Given the description of an element on the screen output the (x, y) to click on. 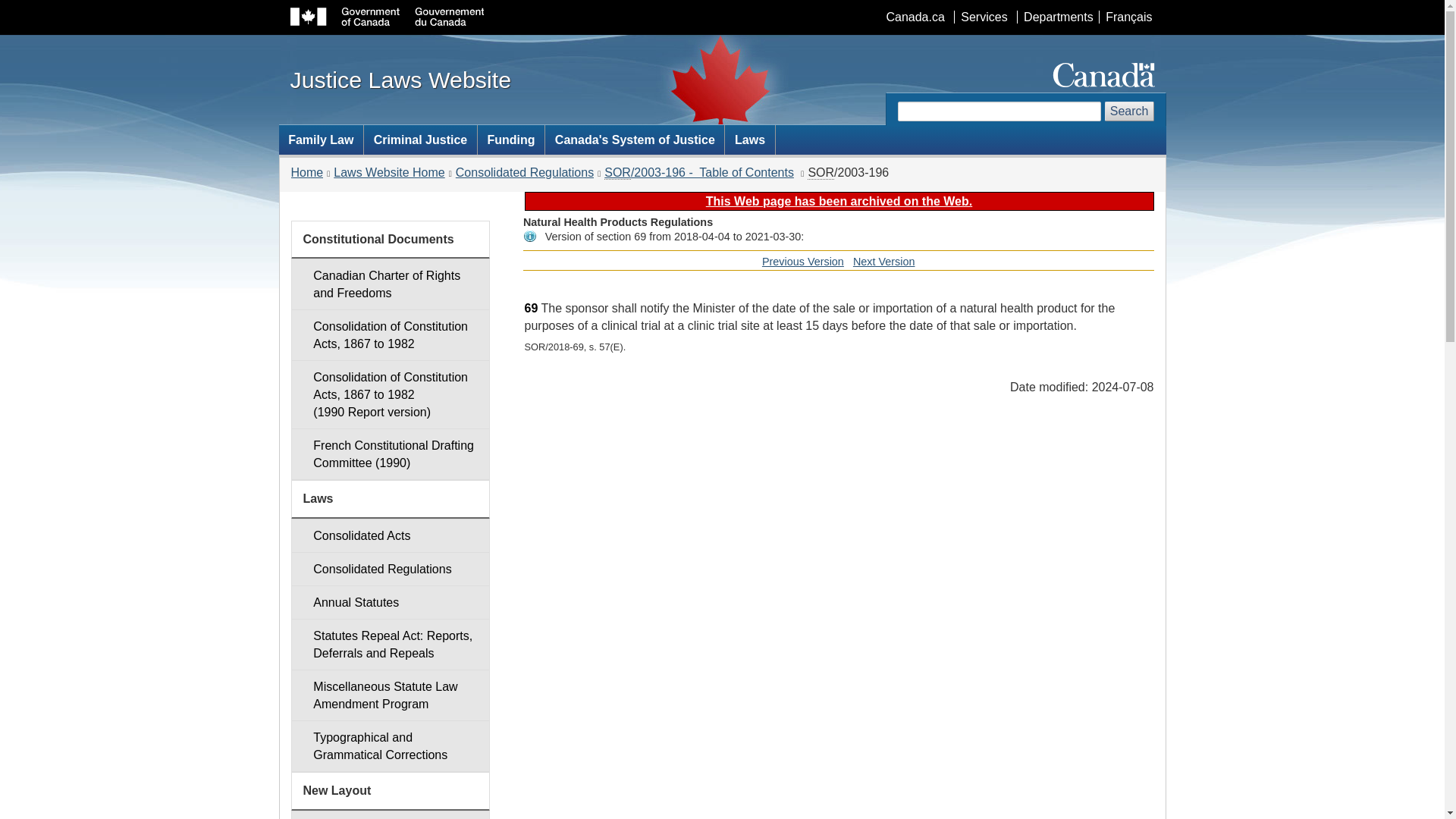
Search (1129, 111)
Statutory Orders and Regulations (821, 172)
Laws Website Home (884, 261)
Funding (388, 172)
Consolidated Acts (510, 139)
Canadian Charter of Rights and Freedoms (802, 261)
Consolidation of Constitution Acts, 1867 to 1982 (390, 535)
Canada's System of Justice (390, 284)
Consolidated Regulations (390, 335)
69 (633, 139)
Consolidated Regulations (390, 569)
Miscellaneous Statute Law Amendment Program (531, 308)
Services (524, 172)
